Given the description of an element on the screen output the (x, y) to click on. 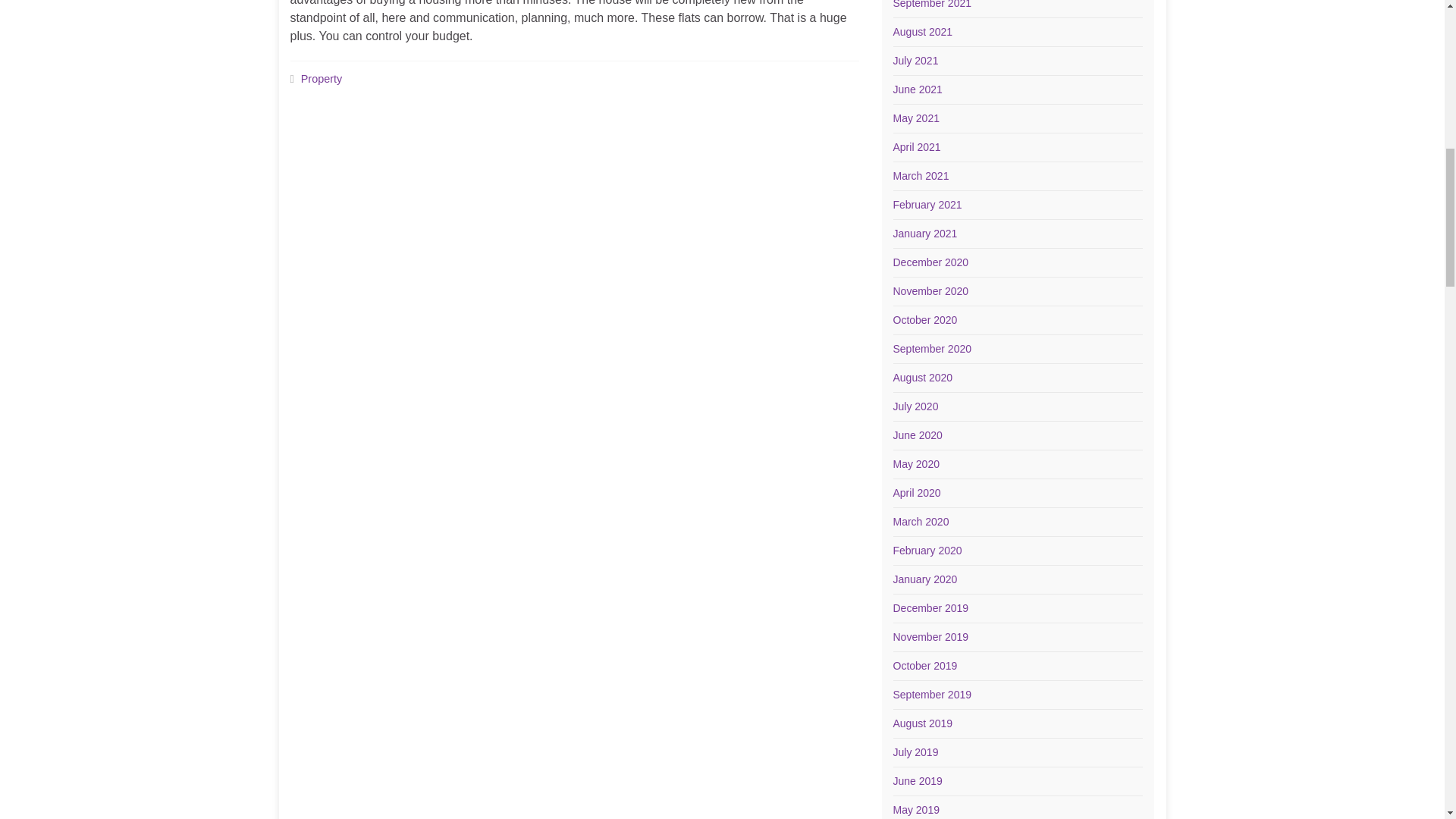
September 2020 (932, 348)
March 2021 (921, 175)
October 2020 (925, 319)
July 2021 (916, 60)
Property (321, 78)
August 2021 (923, 31)
April 2021 (916, 146)
November 2020 (931, 291)
June 2021 (917, 89)
January 2021 (925, 233)
August 2020 (923, 377)
September 2021 (932, 4)
February 2021 (927, 204)
December 2020 (931, 262)
May 2021 (916, 118)
